Given the description of an element on the screen output the (x, y) to click on. 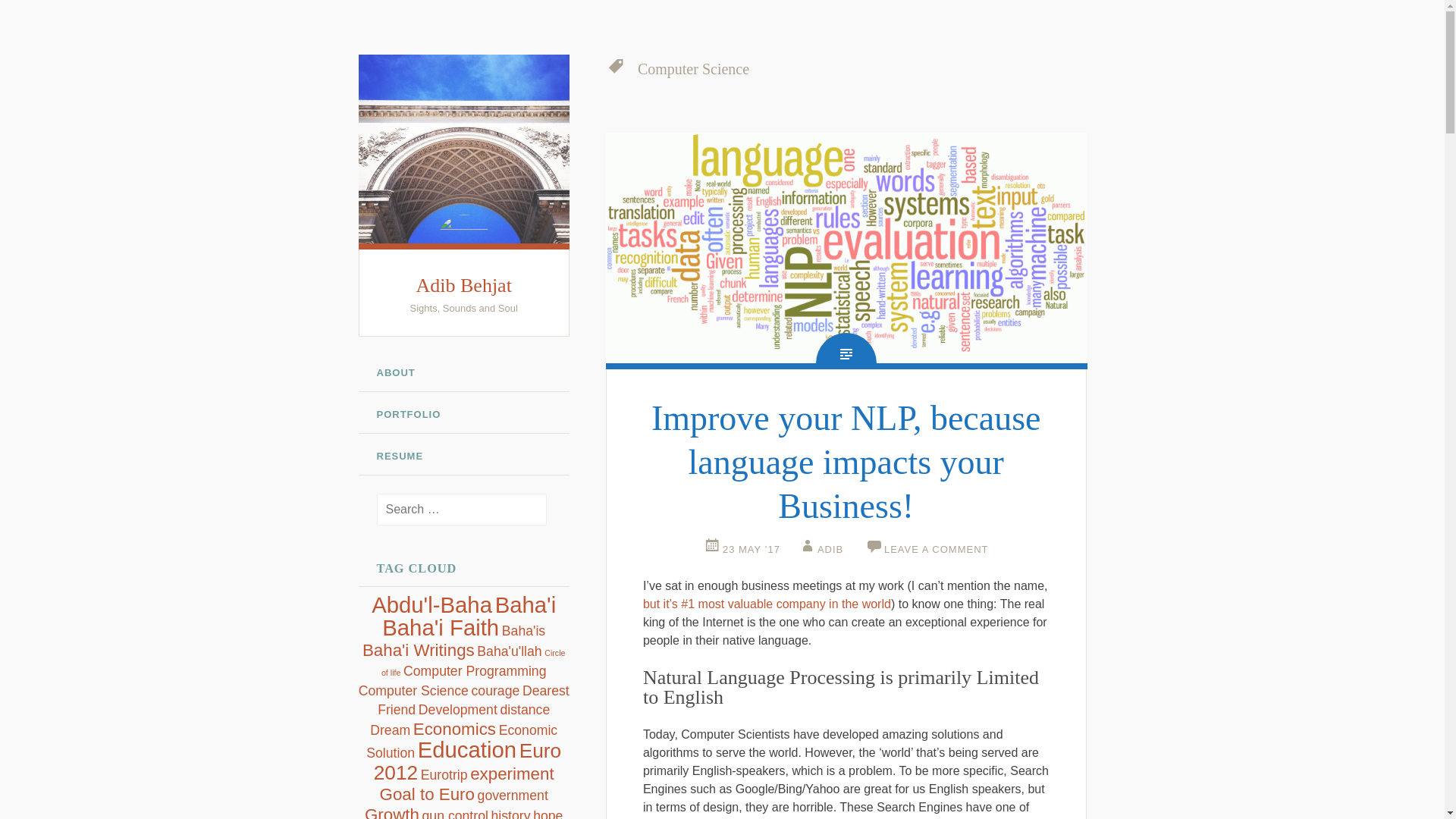
Circle of life (473, 662)
gun control (454, 813)
government (512, 795)
Baha'i (525, 604)
hope (547, 813)
Abdu'l-Baha (431, 604)
Computer Programming (474, 670)
RESUME (463, 456)
ABOUT (463, 373)
Adib Behjat (462, 285)
